Given the description of an element on the screen output the (x, y) to click on. 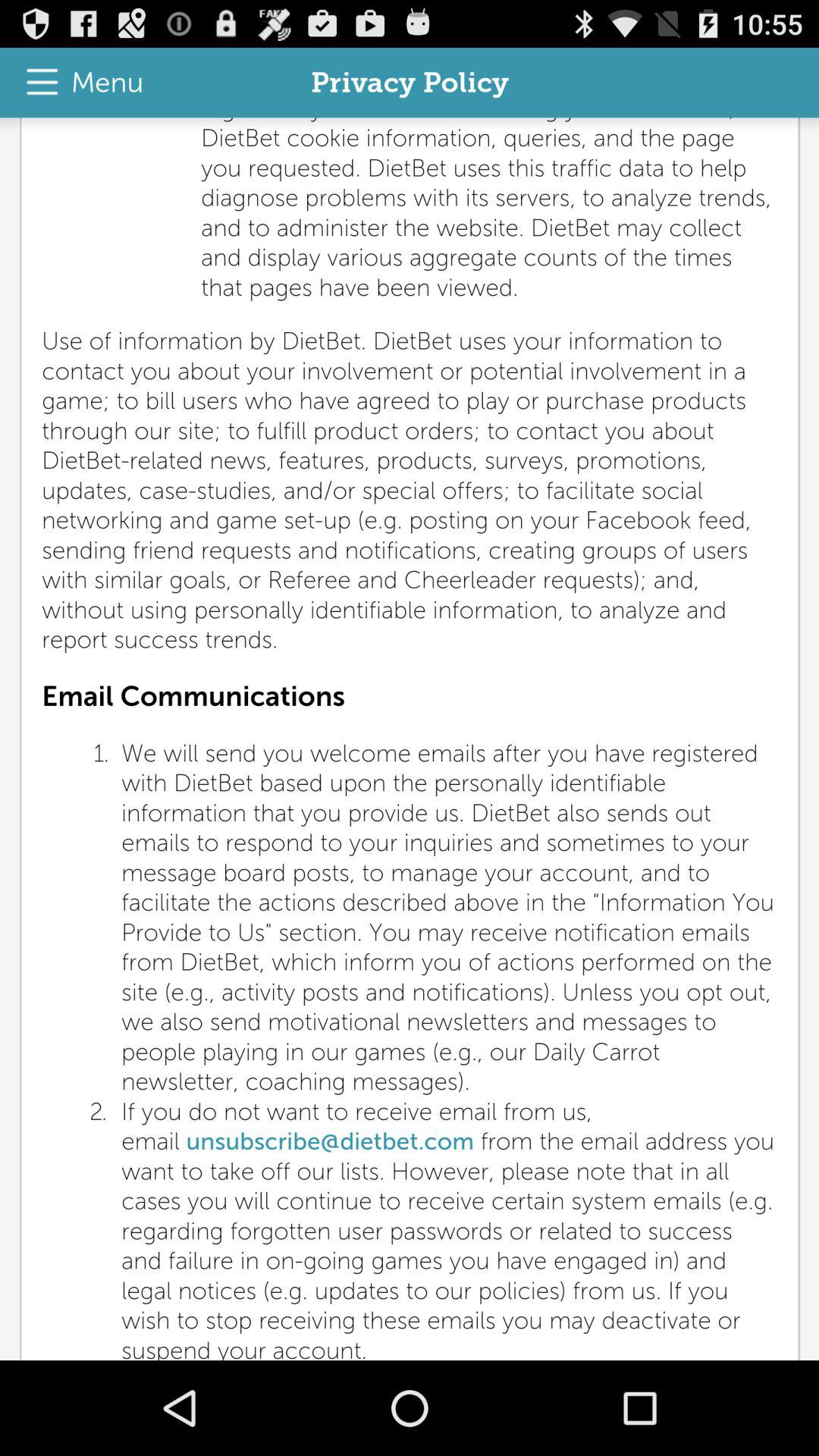
click icon at the top left corner (76, 82)
